Given the description of an element on the screen output the (x, y) to click on. 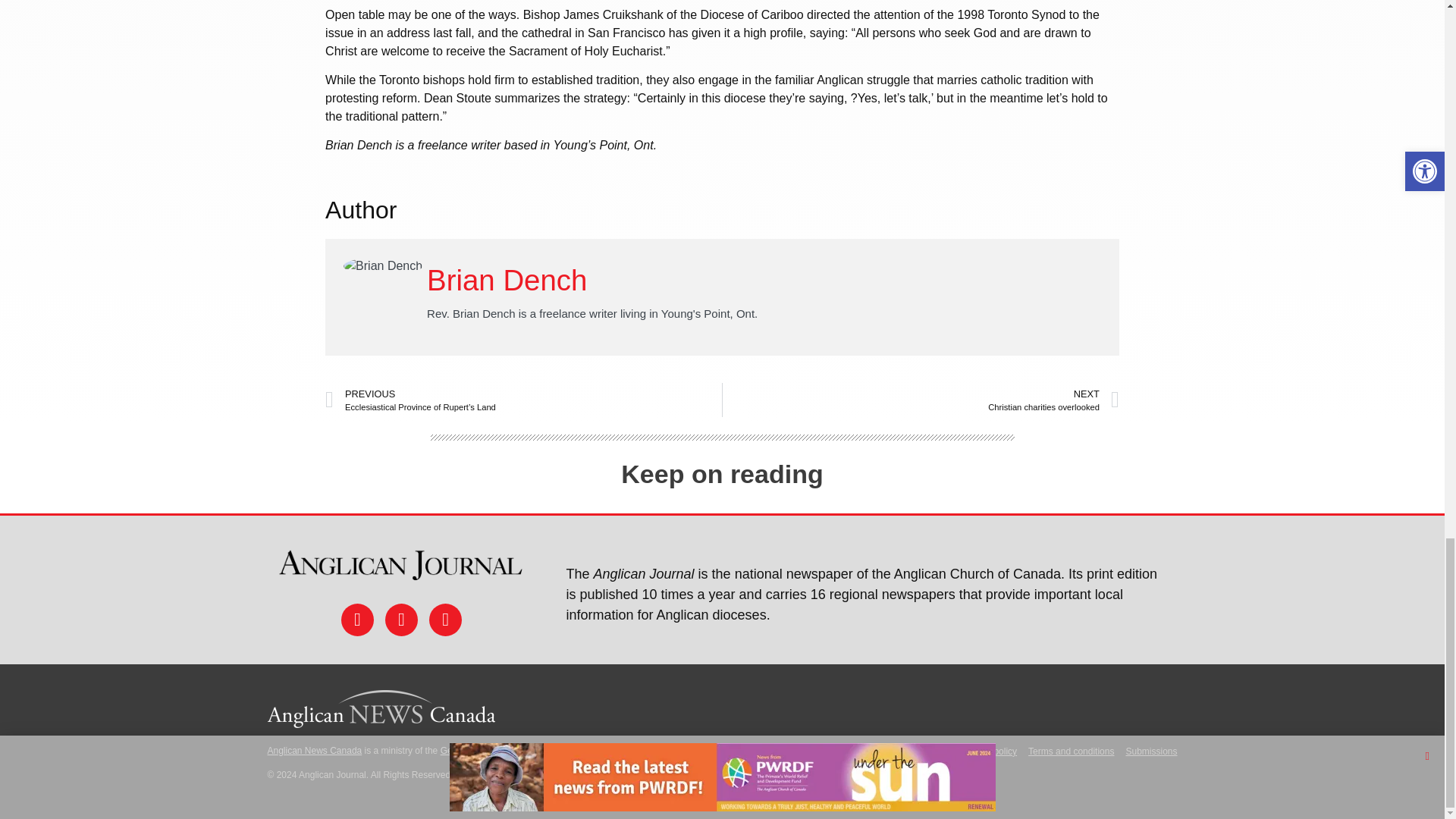
Brian Dench (506, 279)
